Given the description of an element on the screen output the (x, y) to click on. 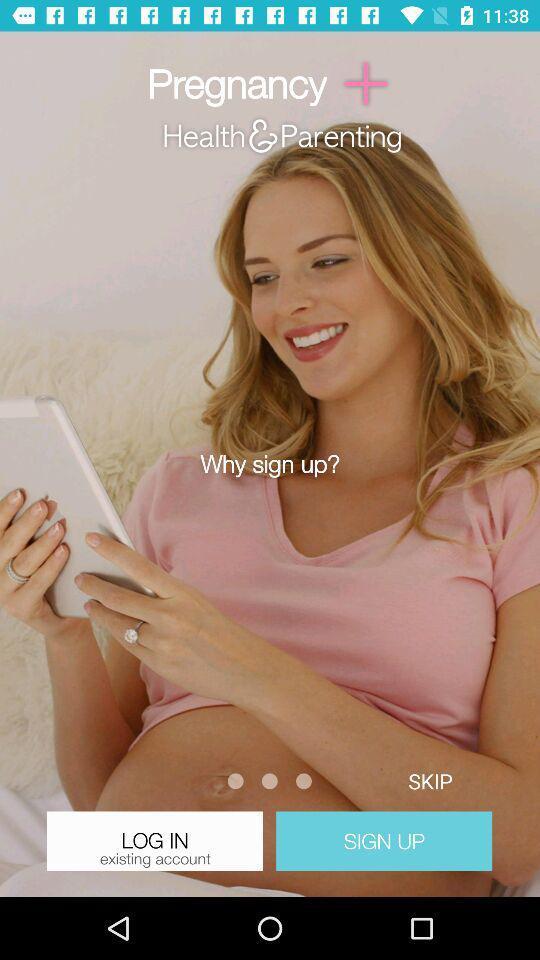
turn on item below why sign up? (430, 780)
